Given the description of an element on the screen output the (x, y) to click on. 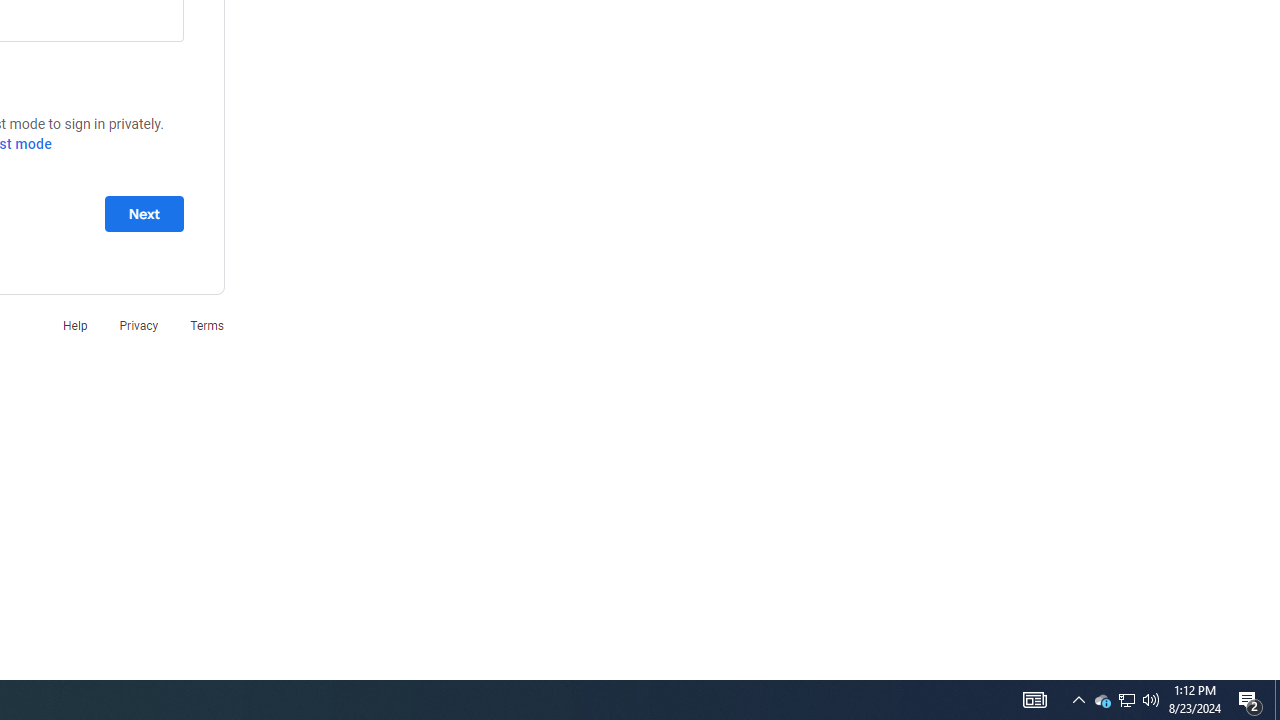
Notification Chevron (1078, 699)
AutomationID: 4105 (1034, 699)
Show desktop (1277, 699)
Action Center, 2 new notifications (1250, 699)
Next (143, 213)
User Promoted Notification Area (1126, 699)
Q2790: 100% (1102, 699)
